Given the description of an element on the screen output the (x, y) to click on. 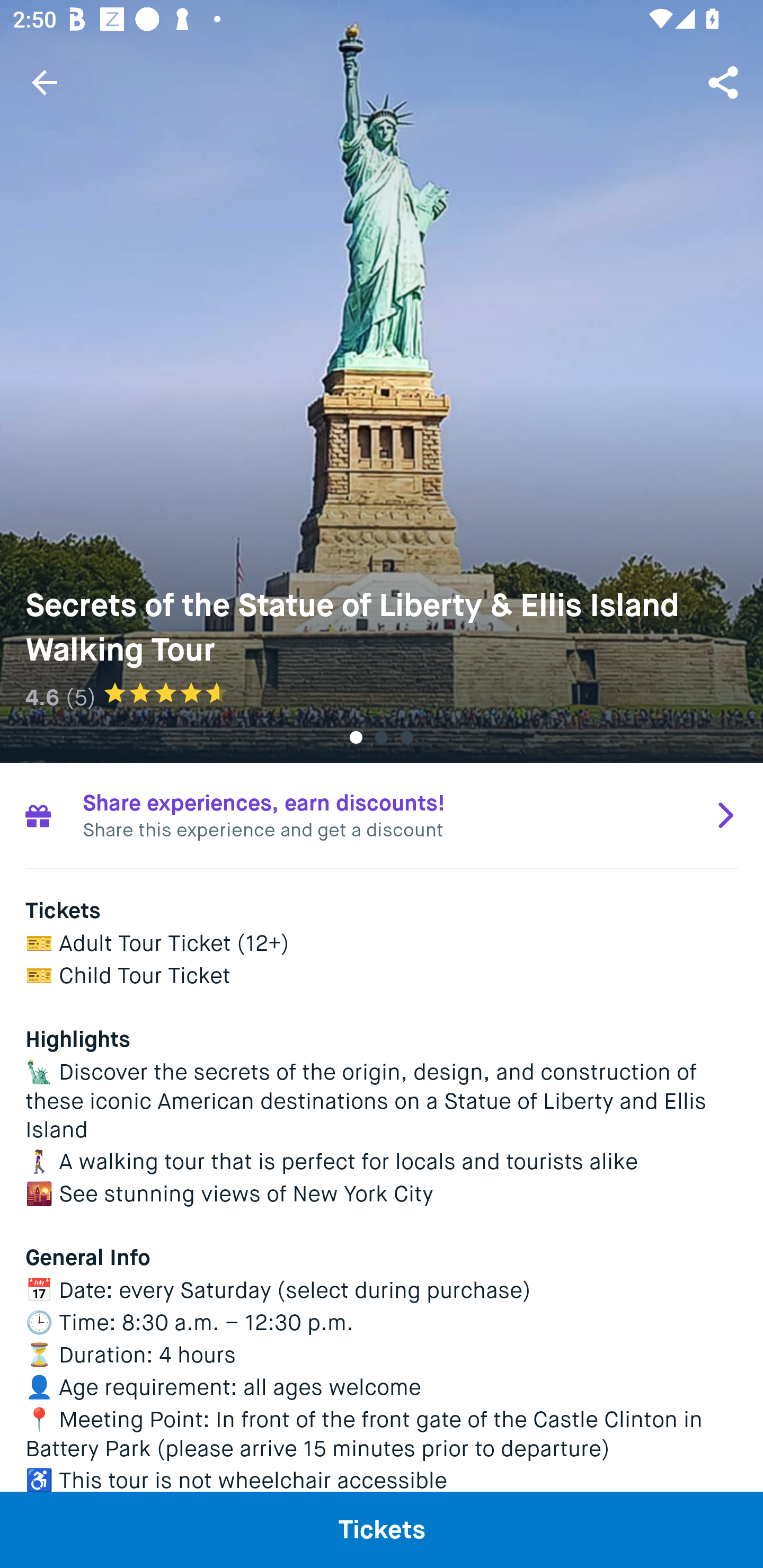
Navigate up (44, 82)
Share (724, 81)
(5) (80, 697)
Tickets (381, 1529)
